Given the description of an element on the screen output the (x, y) to click on. 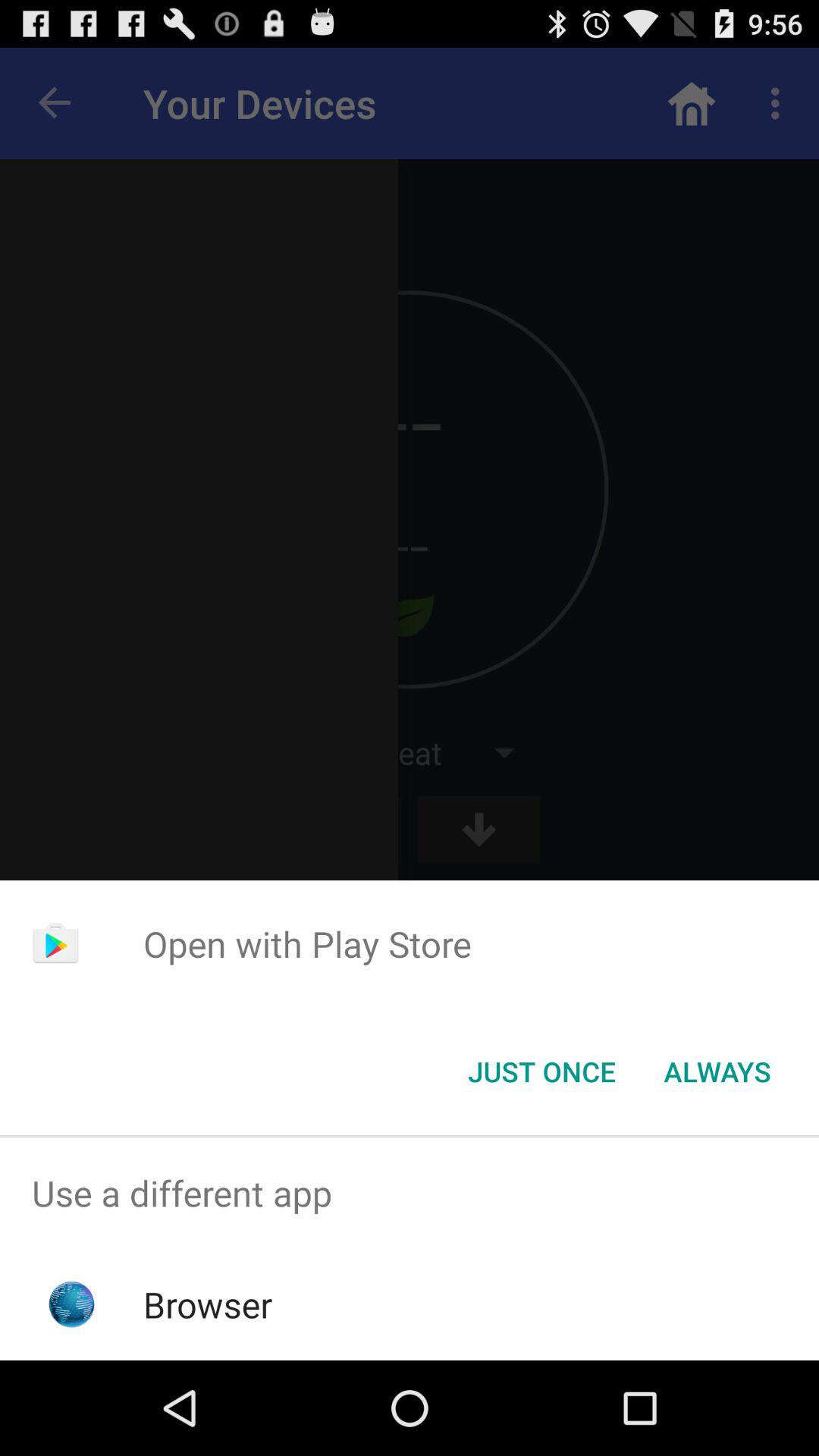
turn off app below the use a different (207, 1304)
